Given the description of an element on the screen output the (x, y) to click on. 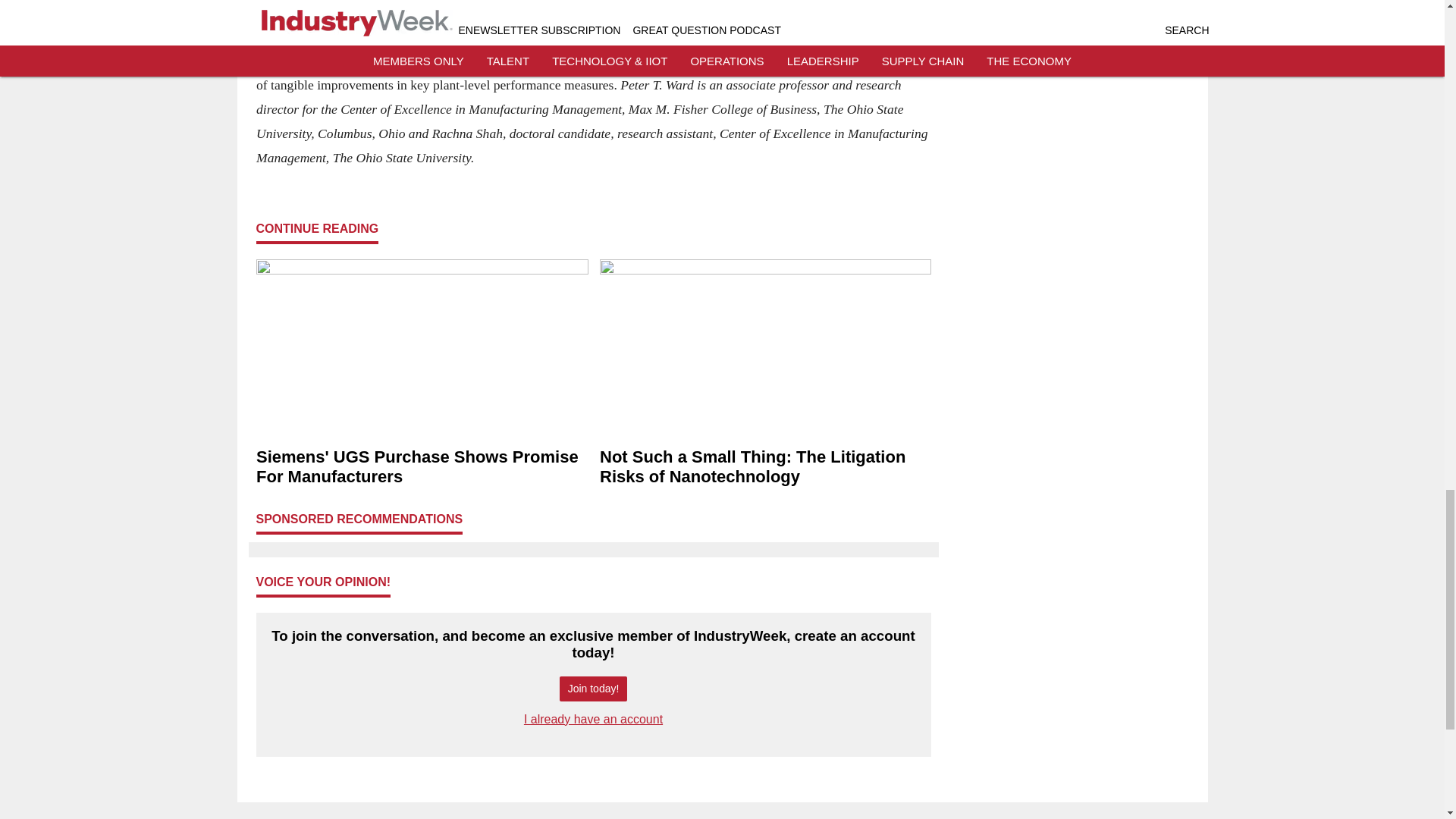
Siemens' UGS Purchase Shows Promise For Manufacturers (422, 466)
Join today! (593, 688)
I already have an account (593, 718)
